Given the description of an element on the screen output the (x, y) to click on. 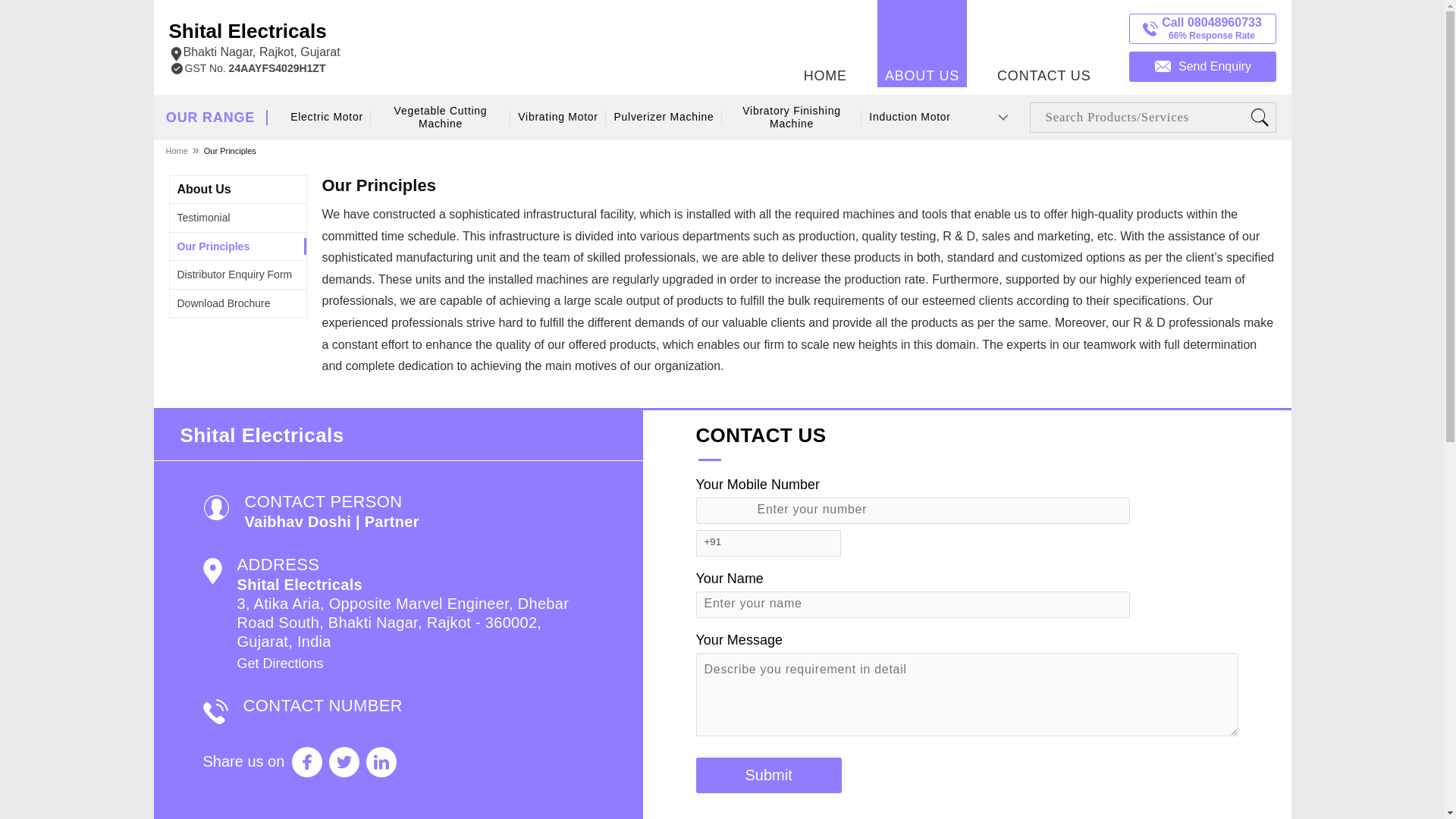
Submit (768, 775)
Our Principles (213, 246)
Home (176, 150)
Induction Motor (909, 117)
Vibrating Motor (253, 41)
About Us (558, 117)
Distributor Enquiry Form (204, 188)
Submit (234, 274)
Electric Motor (768, 775)
